Given the description of an element on the screen output the (x, y) to click on. 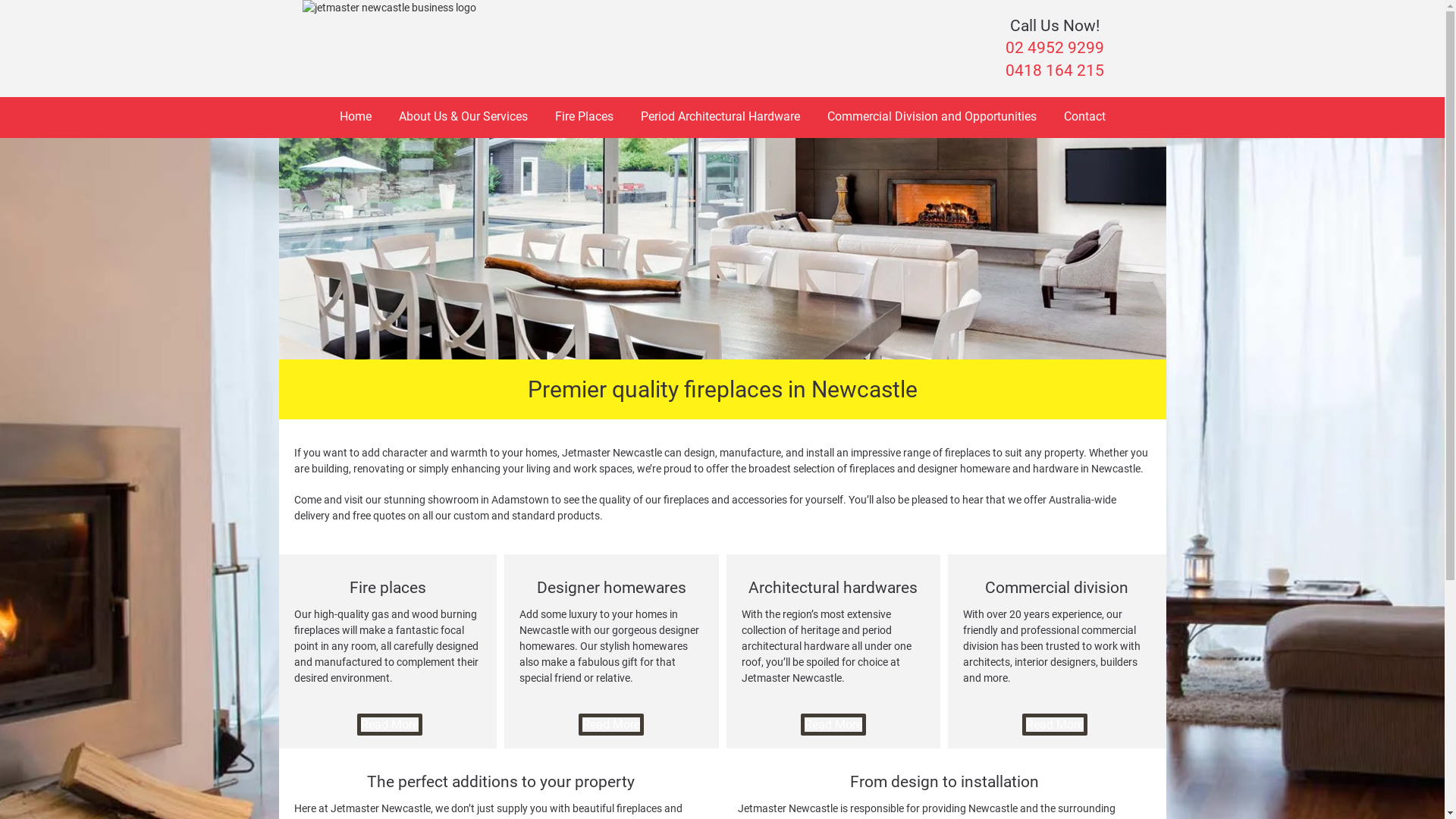
Read More Element type: text (1054, 724)
Read More Element type: text (389, 724)
Home Element type: text (355, 116)
jetmaster newcastle business logo Element type: hover (389, 27)
About Us & Our Services Element type: text (462, 116)
Read More Element type: text (610, 724)
0418 164 215 Element type: text (1054, 70)
Commercial Division and Opportunities Element type: text (931, 116)
02 4952 9299 Element type: text (1054, 47)
Period Architectural Hardware Element type: text (719, 116)
Read More Element type: text (833, 724)
Fire Places Element type: text (583, 116)
Contact Element type: text (1084, 116)
